Given the description of an element on the screen output the (x, y) to click on. 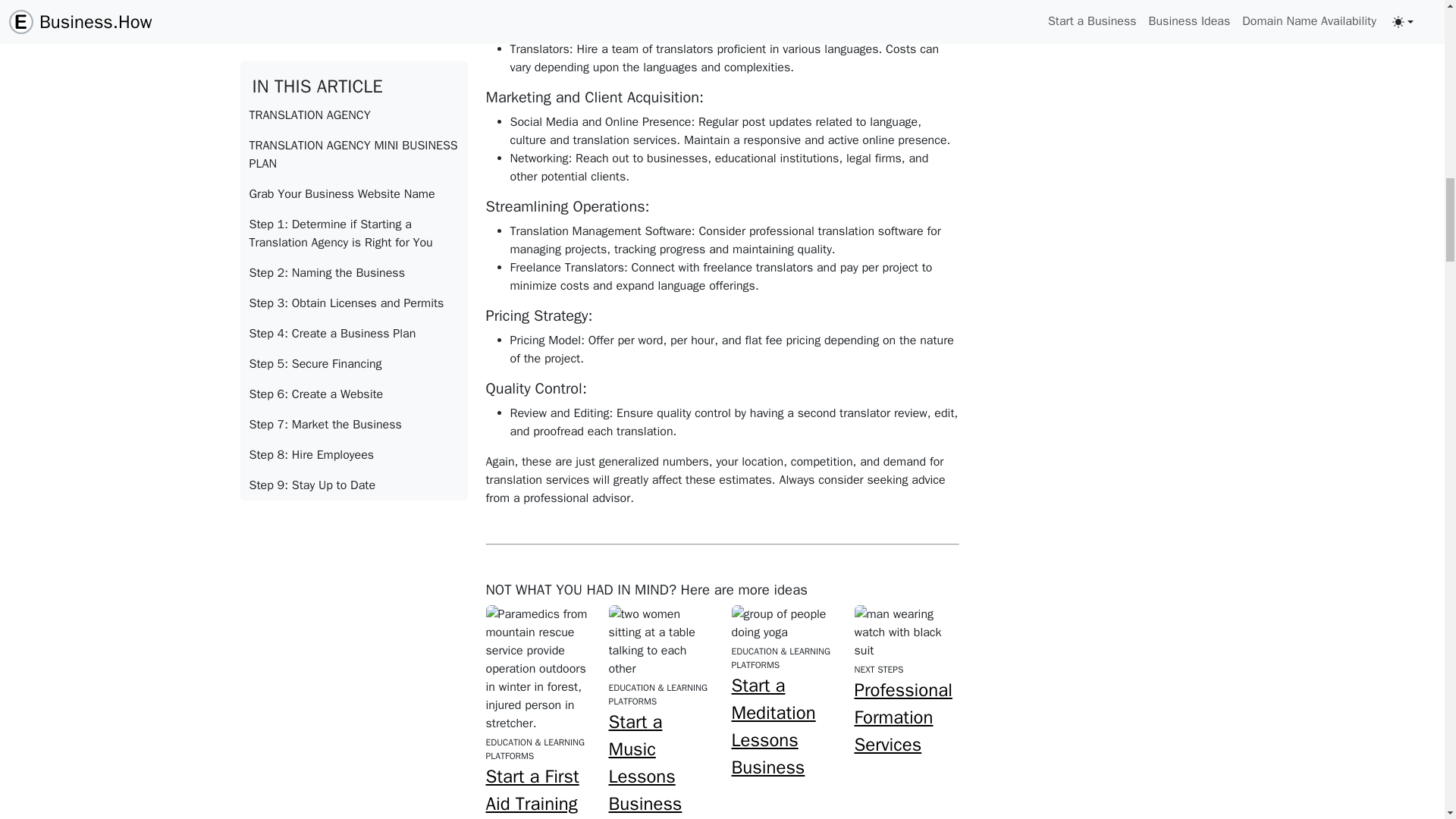
Professional Formation Services (902, 716)
Start a Music Lessons Business (644, 762)
Start a Meditation Lessons Business (772, 726)
Start a First Aid Training Business (531, 791)
